Given the description of an element on the screen output the (x, y) to click on. 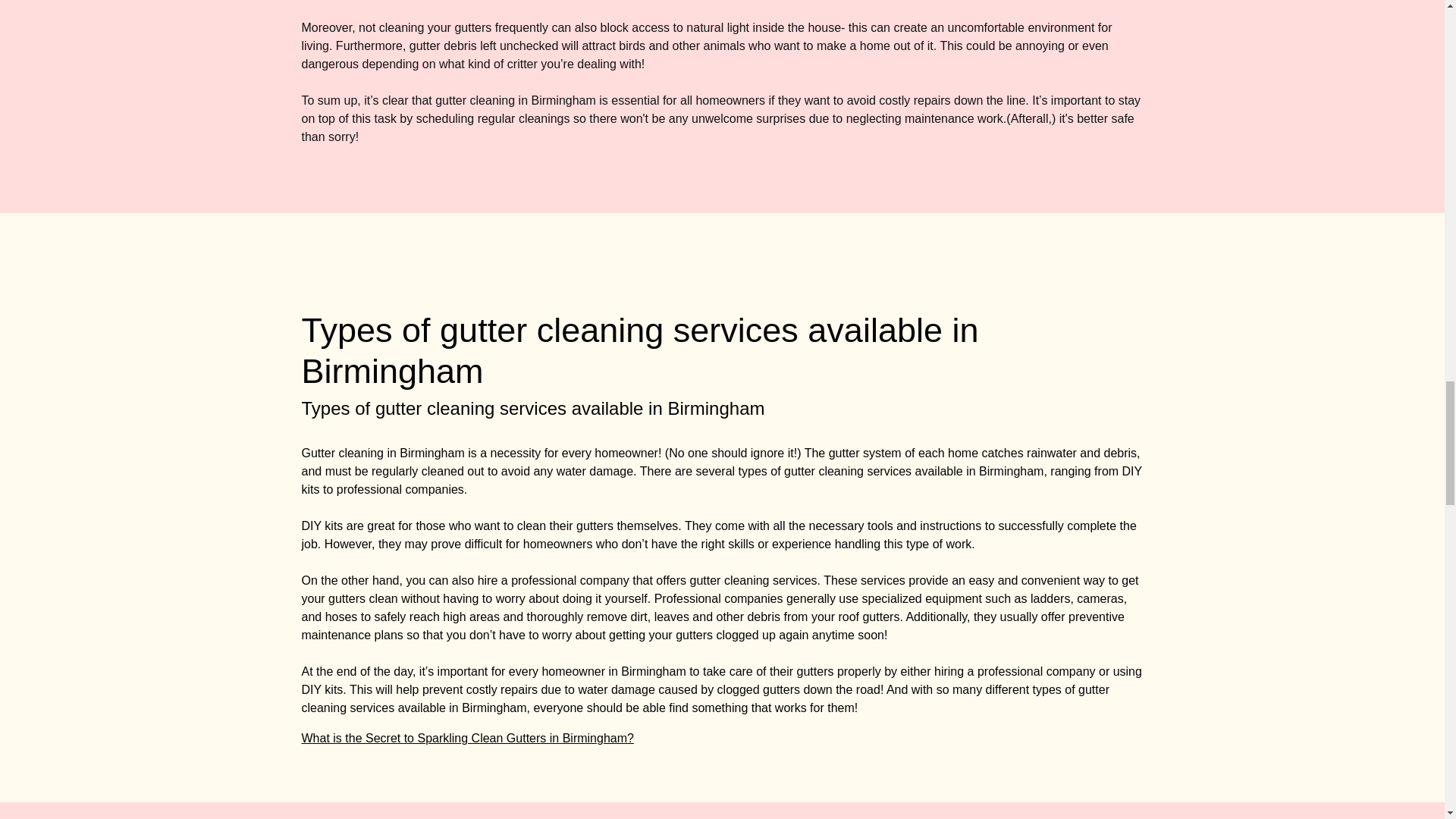
What is the Secret to Sparkling Clean Gutters in Birmingham? (467, 738)
